Given the description of an element on the screen output the (x, y) to click on. 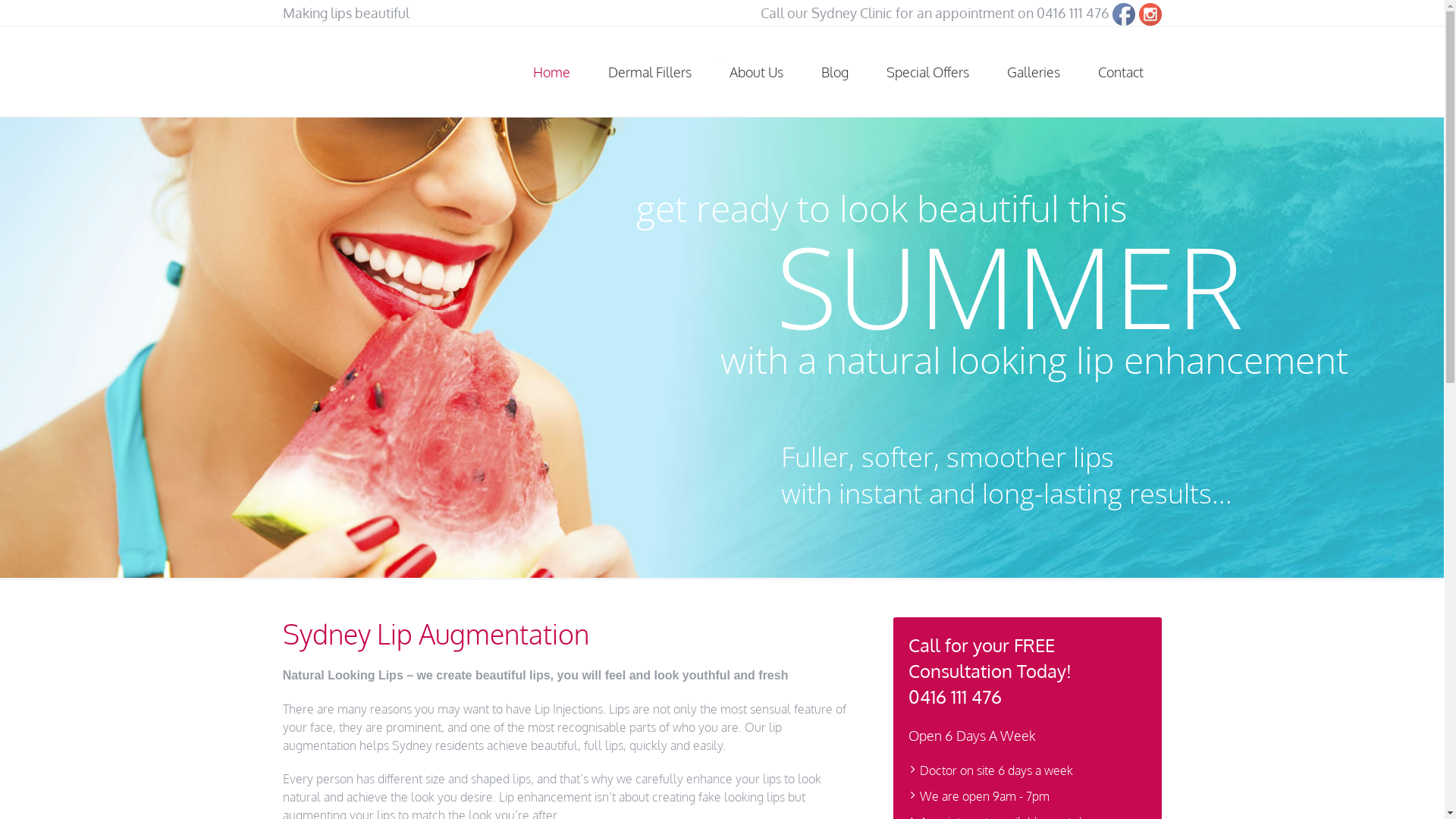
About Us Element type: text (755, 71)
Special Offers Element type: text (927, 71)
Contact Element type: text (1119, 71)
Instagram Element type: hover (1150, 14)
Galleries Element type: text (1032, 71)
0416 111 476 Element type: text (1072, 12)
Dermal Fillers Element type: text (648, 71)
Home Element type: text (551, 71)
Blog Element type: text (834, 71)
Facebook Element type: hover (1123, 14)
